Given the description of an element on the screen output the (x, y) to click on. 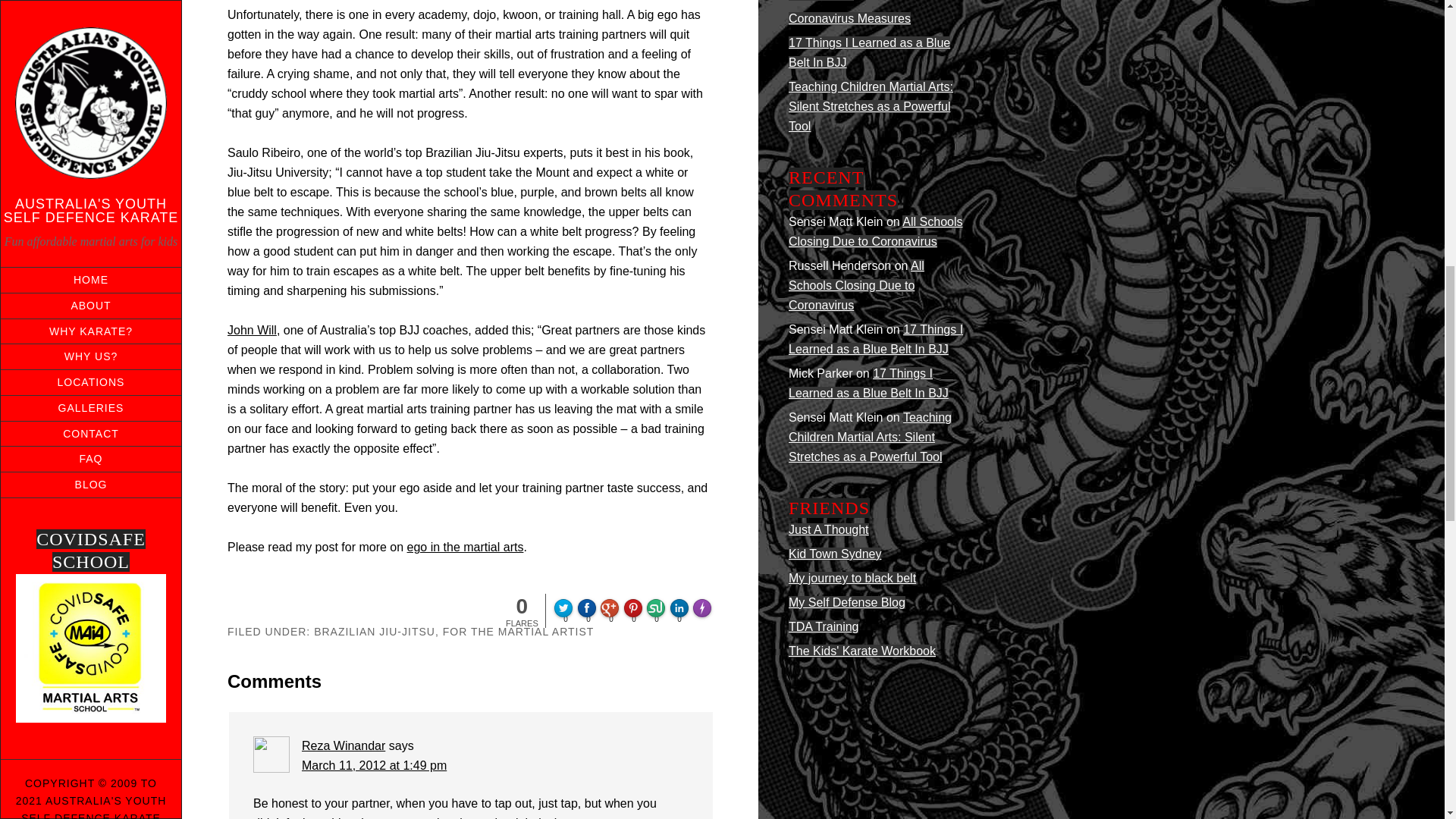
March 11, 2012 at 1:49 pm (373, 765)
ego in the martial arts (465, 546)
John Will (251, 329)
The best martial arts training articles and information. (824, 626)
BRAZILIAN JIU-JITSU (374, 631)
Great website for fun activities for children in Sydney. (834, 553)
Excellent kids karate resource in the U.S. (862, 650)
Great all-around martial arts blog. (829, 529)
Reza Winandar (343, 745)
A top martial arts resource (852, 577)
FOR THE MARTIAL ARTIST (518, 631)
